Given the description of an element on the screen output the (x, y) to click on. 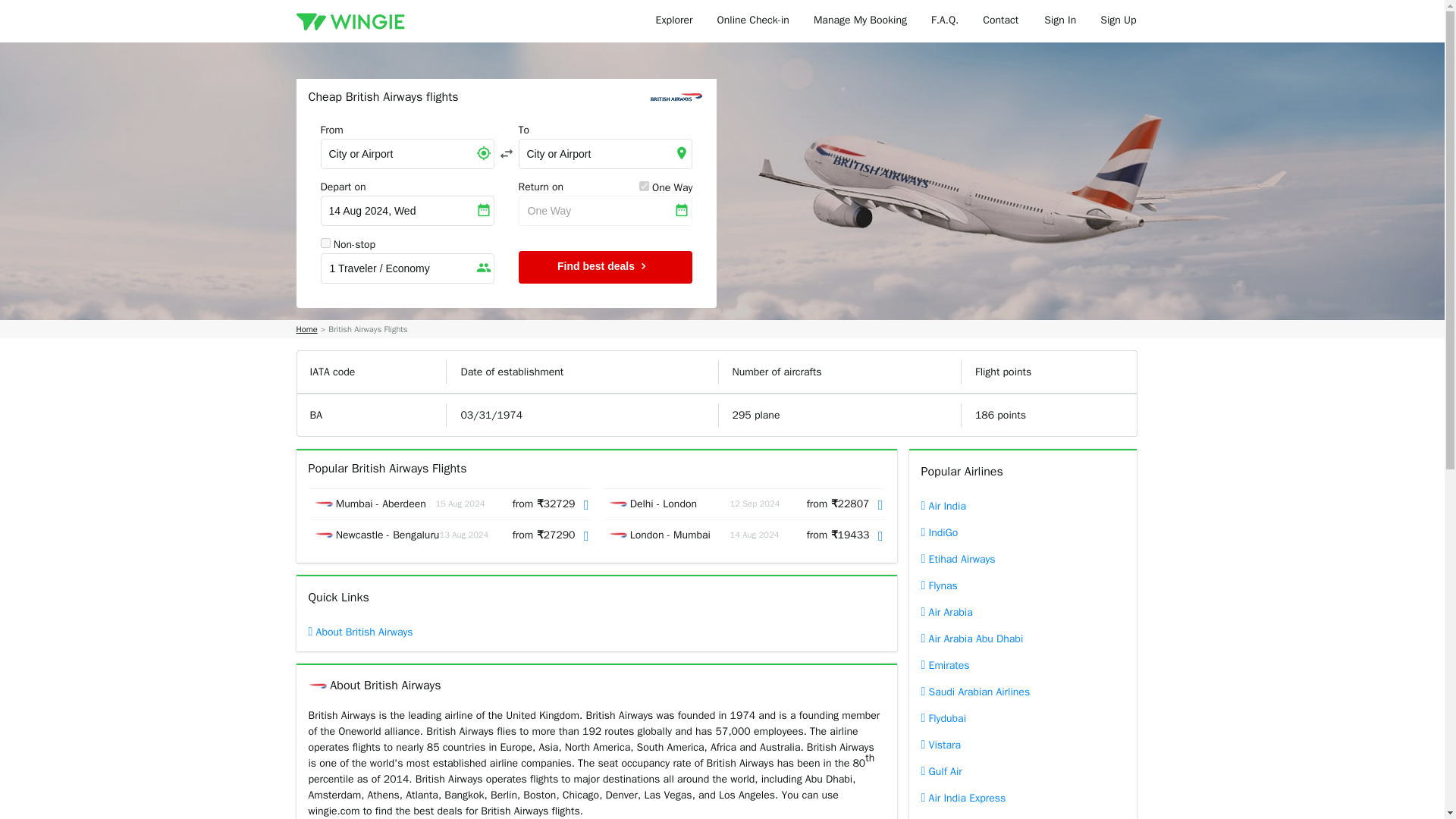
Manage My Booking (860, 21)
Air Arabia Abu Dhabi (1021, 638)
Sign Up (1117, 21)
Online Check-in (753, 21)
Air India Express (1021, 797)
Saudi Arabian Airlines (1021, 691)
About British Airways (391, 632)
About British Airways (391, 632)
Sign In (1059, 21)
Vistara (1021, 745)
